Given the description of an element on the screen output the (x, y) to click on. 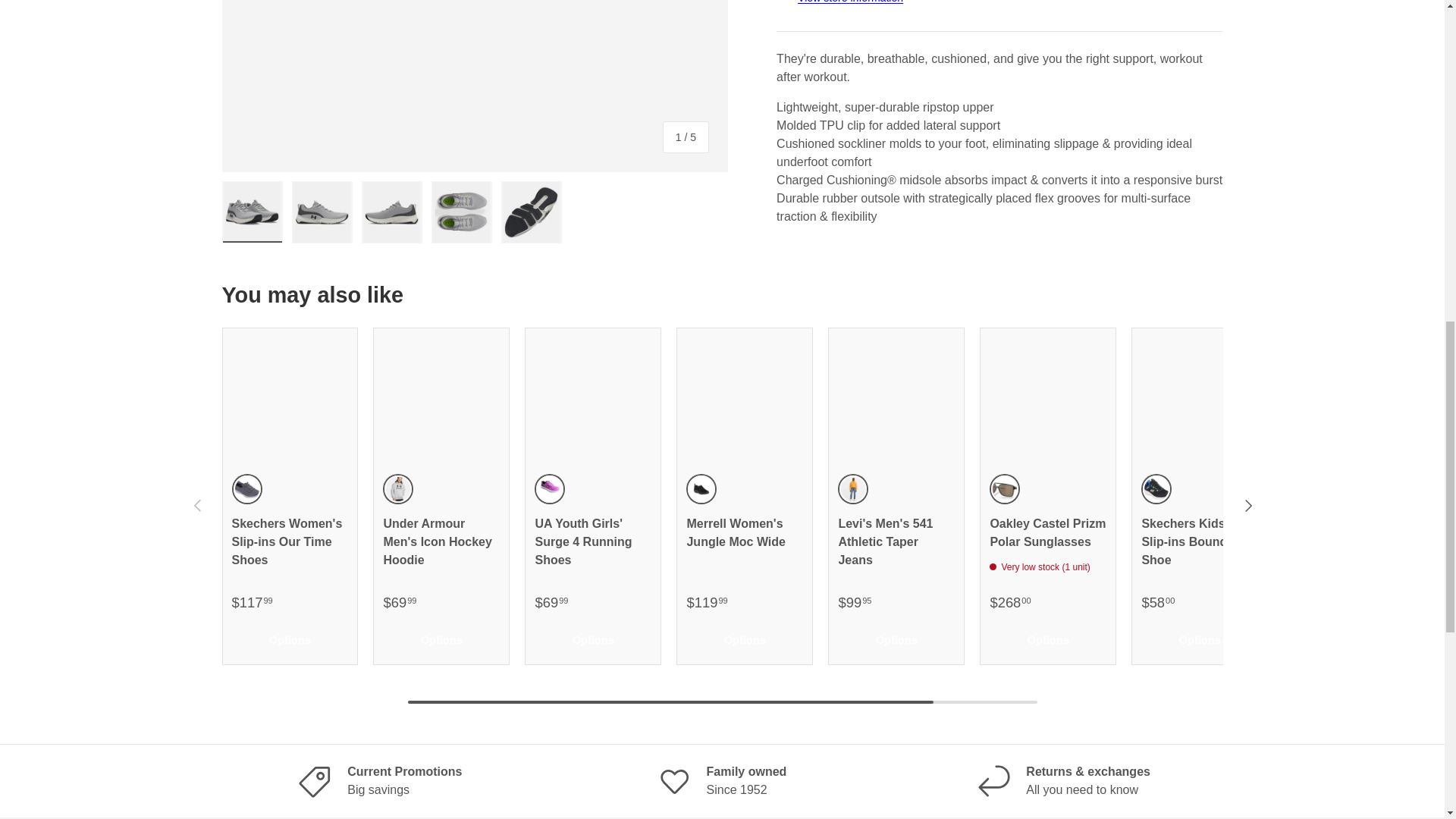
MAGENTA (549, 488)
OLIVE (1004, 488)
BLACK (700, 488)
Fremont Drop Shot (853, 488)
CHARCOAL (246, 488)
